Given the description of an element on the screen output the (x, y) to click on. 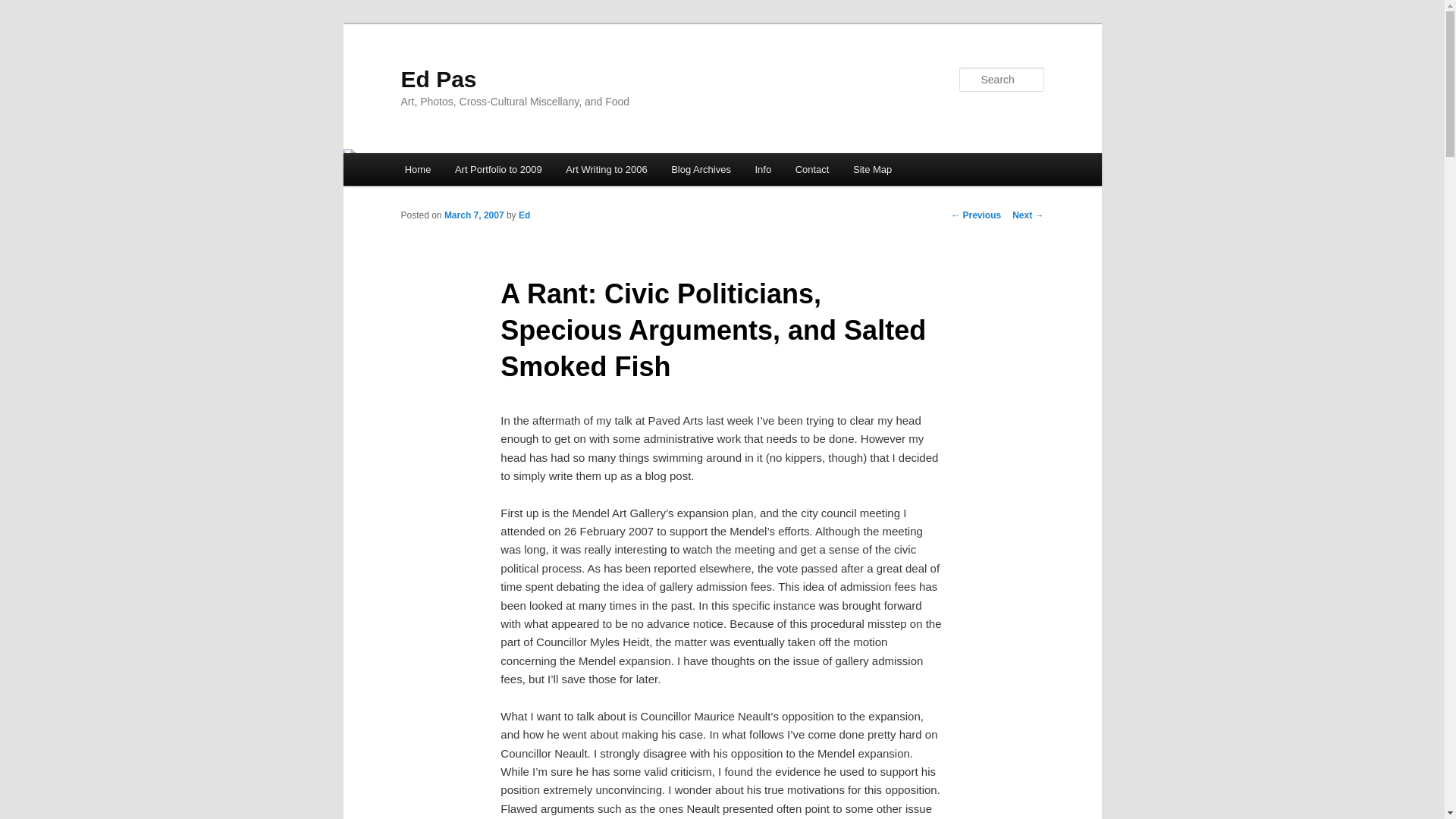
Home (417, 169)
Search (24, 8)
View all posts by Ed (523, 214)
8:36 pm (473, 214)
Art Writing to 2006 (606, 169)
Ed Pas (438, 78)
Art Portfolio to 2009 (497, 169)
